Given the description of an element on the screen output the (x, y) to click on. 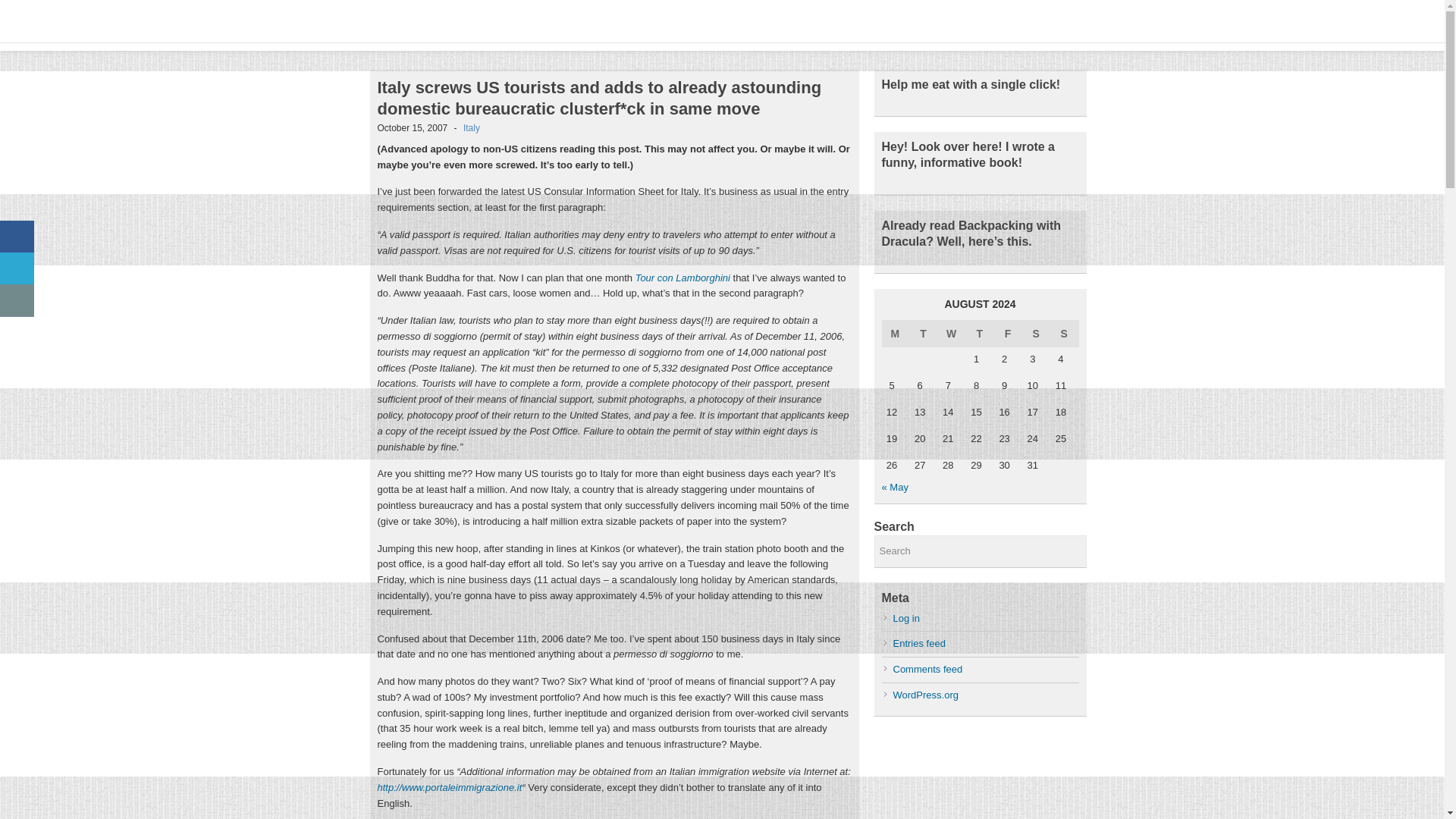
Share On Facebook (16, 236)
Log in (906, 618)
Entries feed (918, 643)
Search (979, 551)
Sunday (1063, 333)
Wednesday (951, 333)
Tuesday (923, 333)
Tour con Lamborghini (682, 277)
Italy (471, 127)
